Given the description of an element on the screen output the (x, y) to click on. 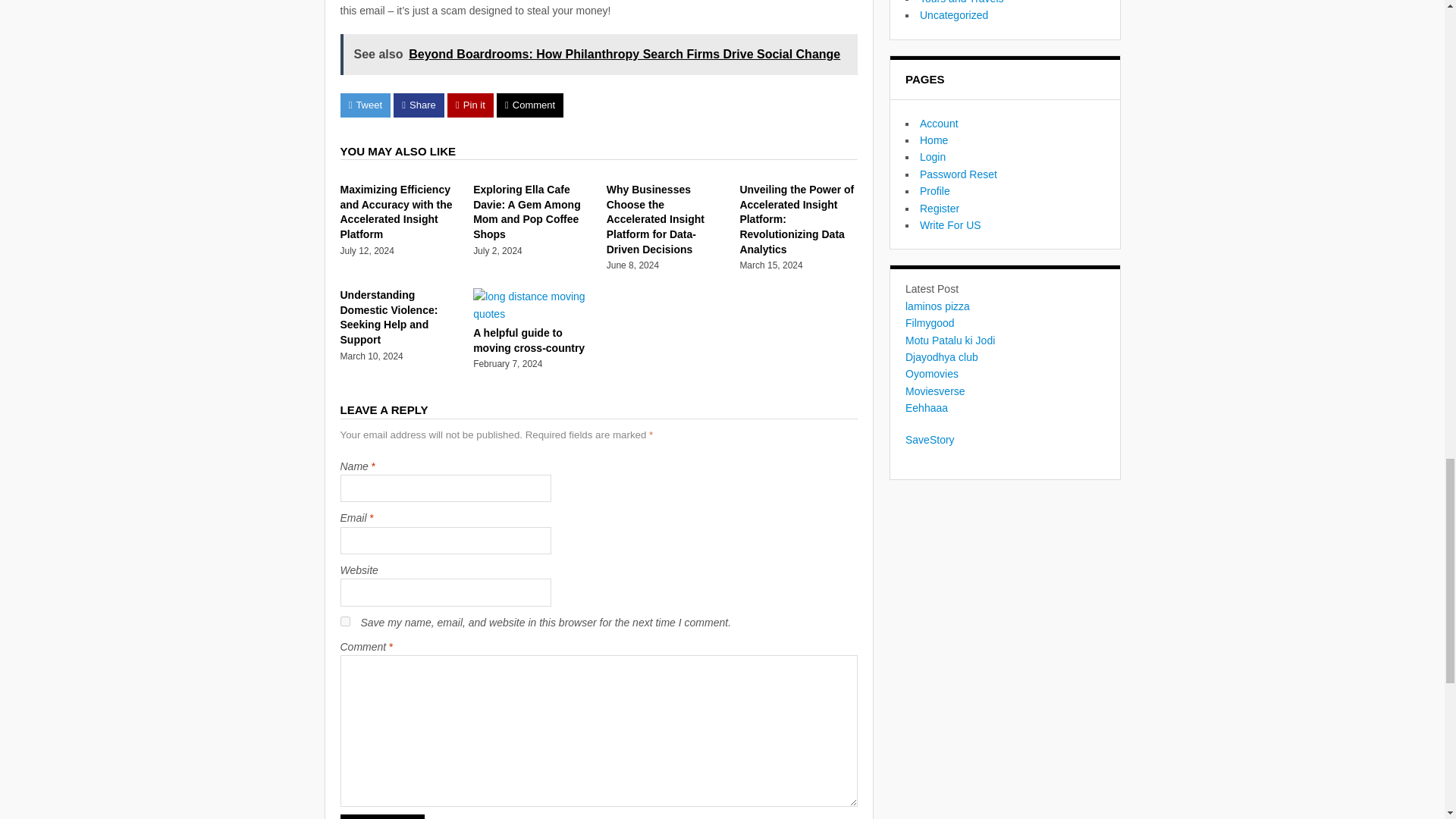
A helpful guide to moving cross-country (532, 313)
Post Comment (382, 816)
A helpful guide to moving cross-country (529, 339)
Share (418, 105)
Understanding Domestic Violence: Seeking Help and Support (388, 317)
